Given the description of an element on the screen output the (x, y) to click on. 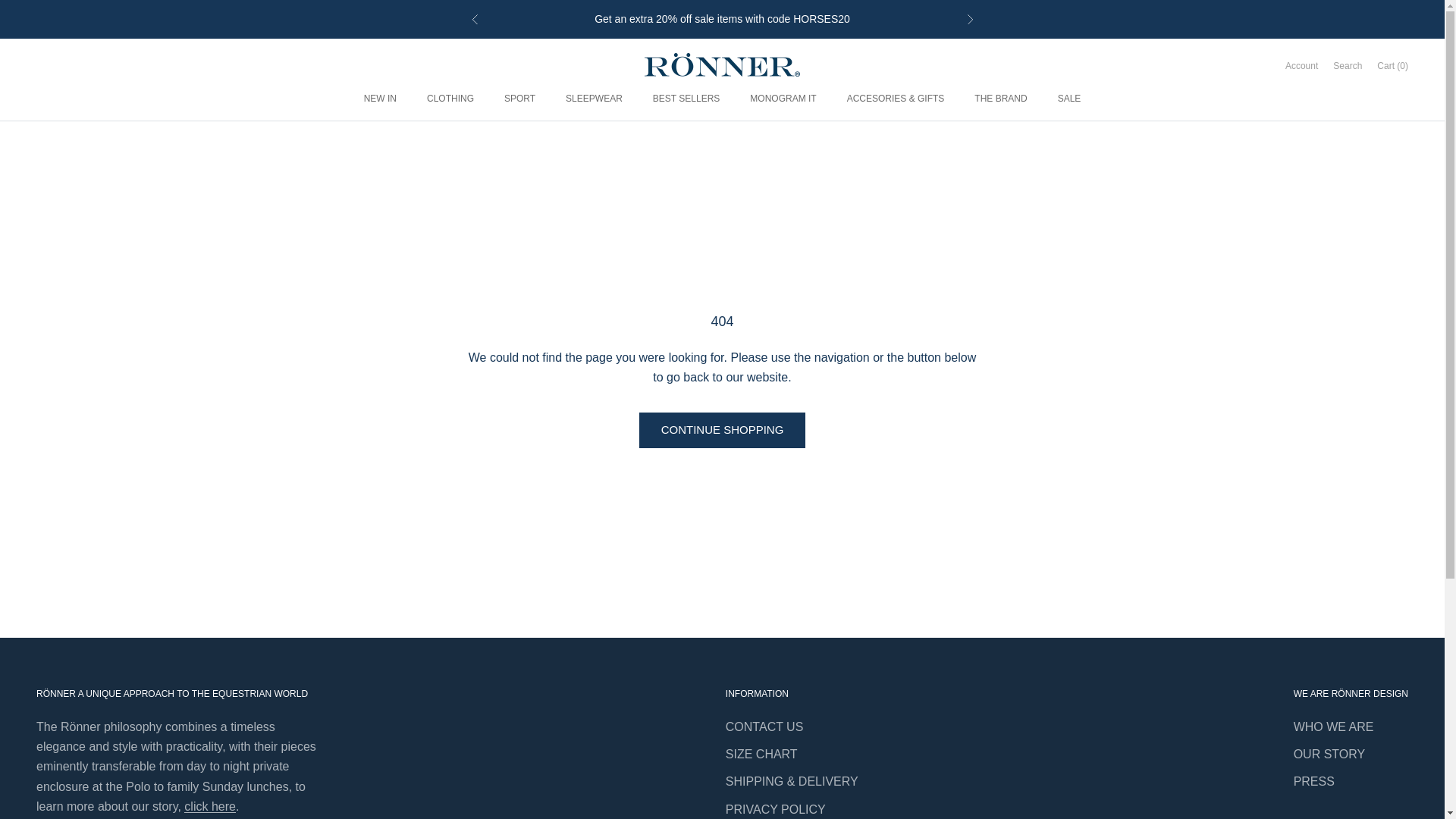
Next (968, 18)
MONOGRAM IT (782, 98)
BEST SELLERS (686, 98)
The Story Behind our Brand (209, 806)
SLEEPWEAR (594, 98)
Previous (474, 18)
